Given the description of an element on the screen output the (x, y) to click on. 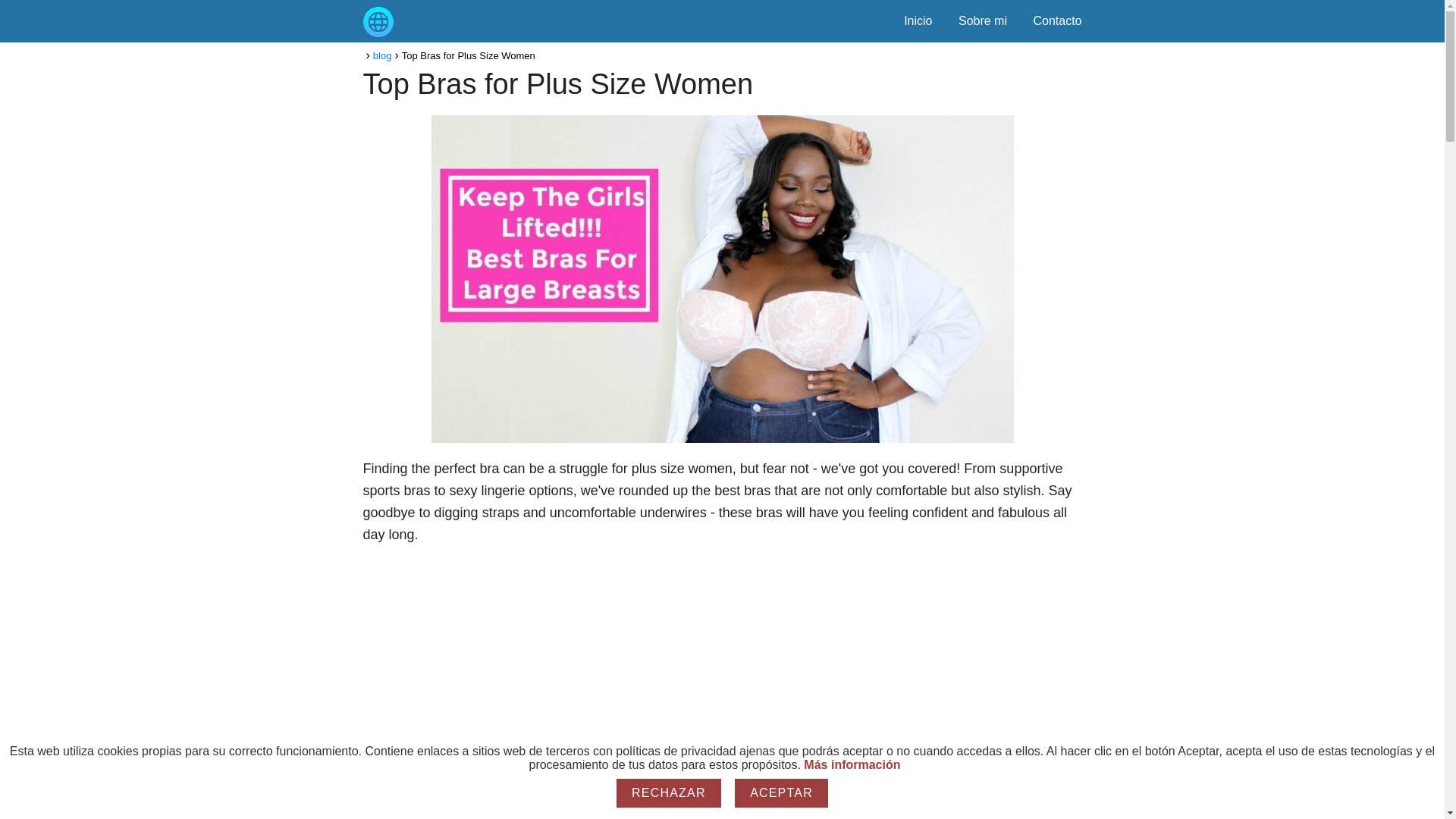
RECHAZAR (668, 793)
ACEPTAR (780, 793)
Sobre mi (982, 20)
Inicio (917, 20)
Contacto (1056, 20)
blog (381, 55)
